Given the description of an element on the screen output the (x, y) to click on. 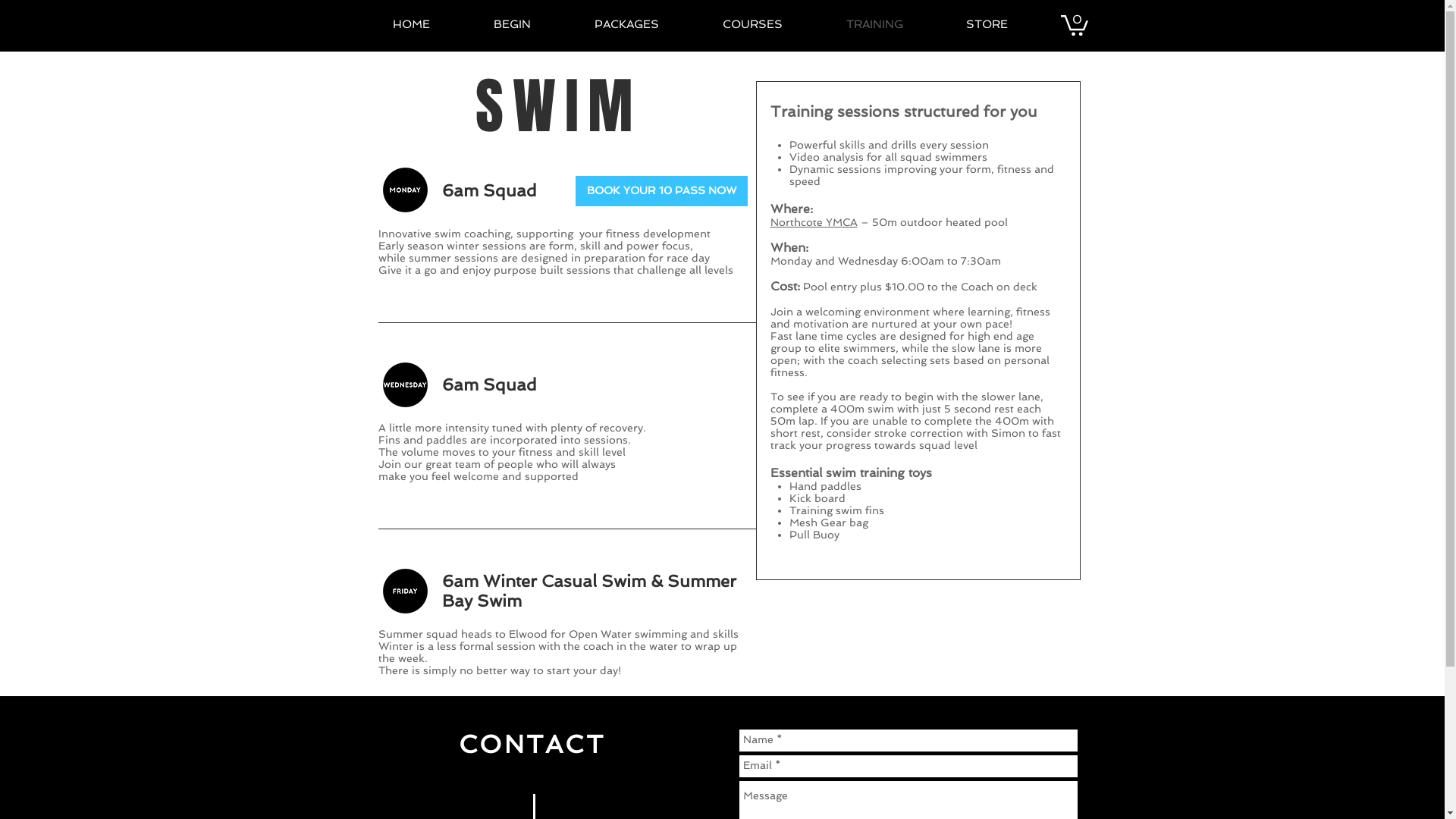
Northcote YMCA Element type: text (813, 222)
BEGIN Element type: text (532, 23)
0 Element type: text (1073, 23)
Friday.png Element type: hover (404, 591)
Monday.png Element type: hover (404, 189)
HOME Element type: text (430, 23)
TRAINING Element type: text (893, 23)
PACKAGES Element type: text (646, 23)
STORE Element type: text (1005, 23)
Wednesday.png Element type: hover (404, 384)
BOOK YOUR 10 PASS NOW Element type: text (660, 190)
COURSES Element type: text (772, 23)
